Given the description of an element on the screen output the (x, y) to click on. 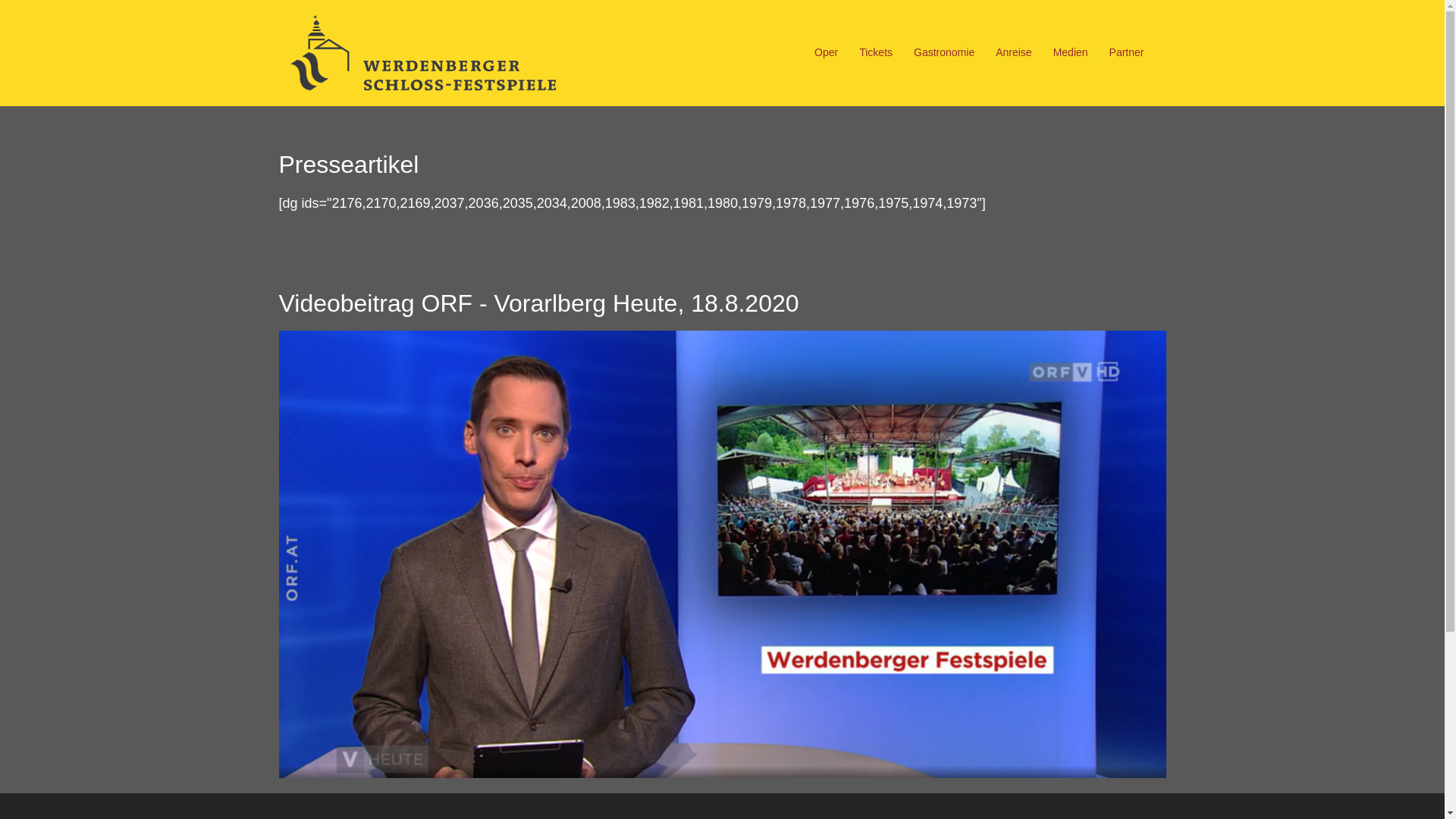
Tickets Element type: text (875, 52)
Gastronomie Element type: text (943, 52)
Anreise Element type: text (1013, 52)
Medien Element type: text (1070, 52)
Oper Element type: text (825, 52)
Partner Element type: text (1126, 52)
ORF-Beitrag Titel Element type: hover (722, 554)
